Given the description of an element on the screen output the (x, y) to click on. 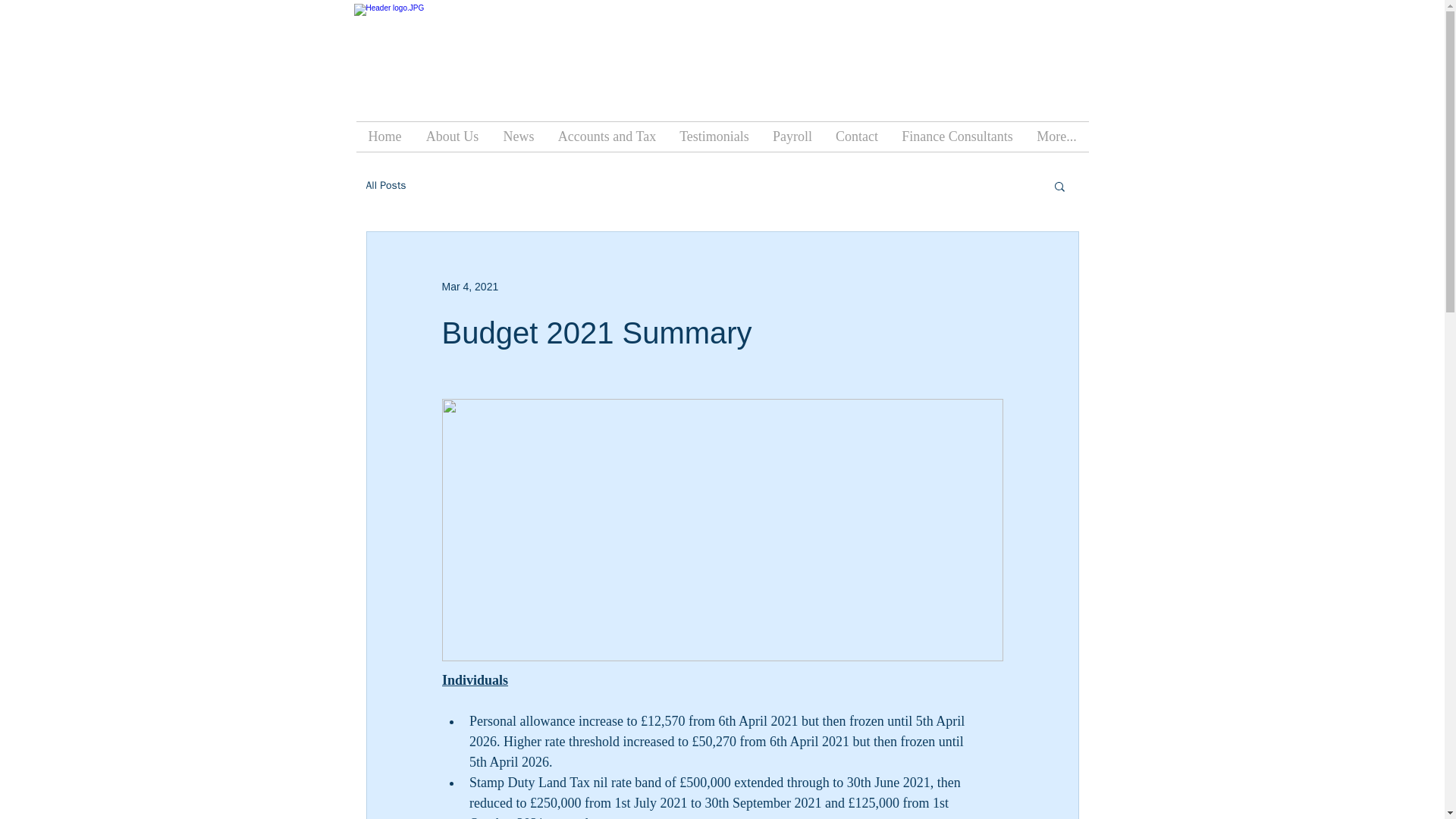
Payroll (792, 136)
Contact (856, 136)
News (519, 136)
Mar 4, 2021 (469, 286)
About Us (452, 136)
Accounts and Tax (606, 136)
Home (384, 136)
All Posts (385, 185)
Finance Consultants (957, 136)
Testimonials (713, 136)
